Given the description of an element on the screen output the (x, y) to click on. 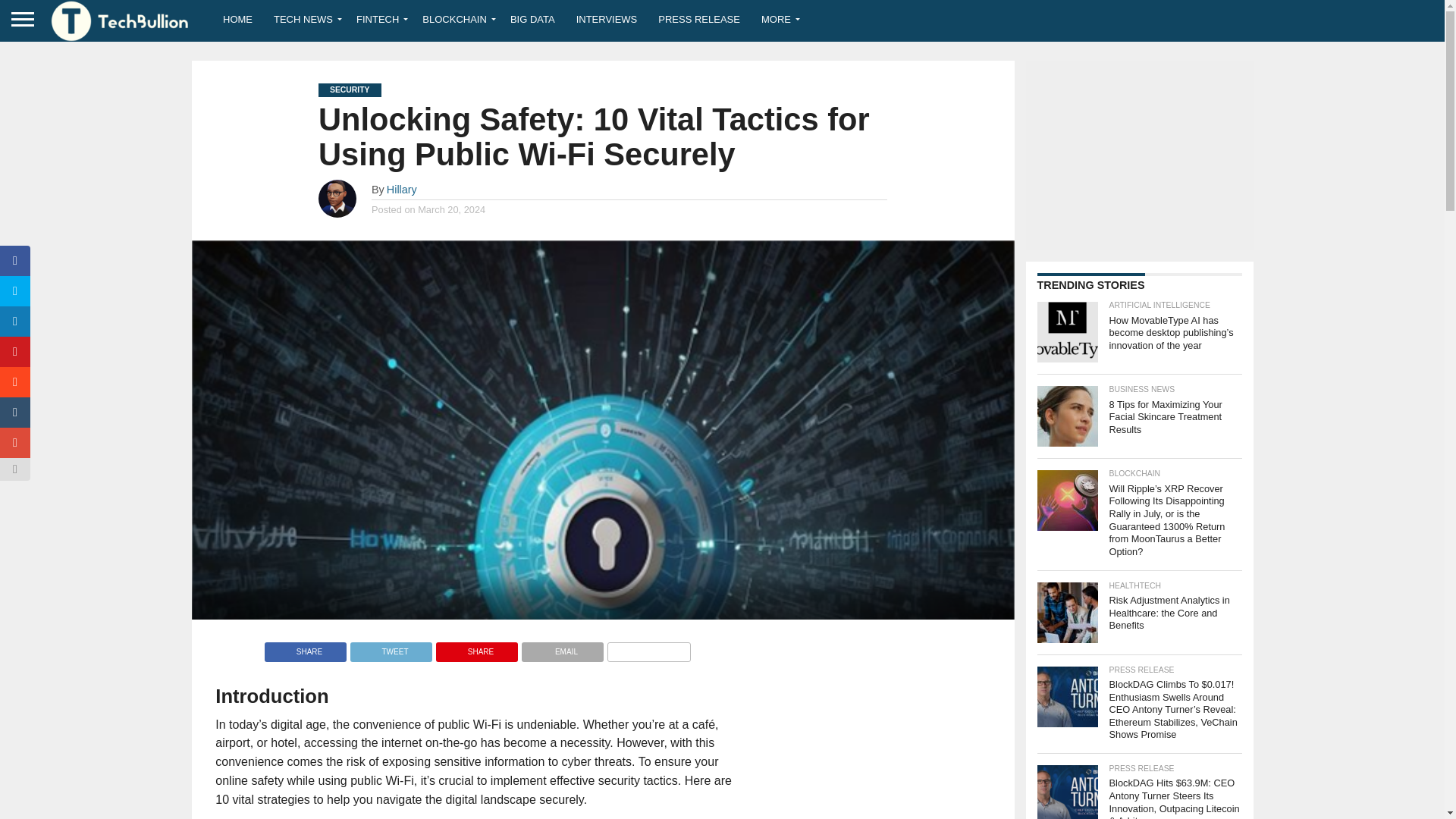
Pin This Post (476, 647)
Tweet This Post (390, 647)
Posts by Hillary (401, 189)
Share on Facebook (305, 647)
